Given the description of an element on the screen output the (x, y) to click on. 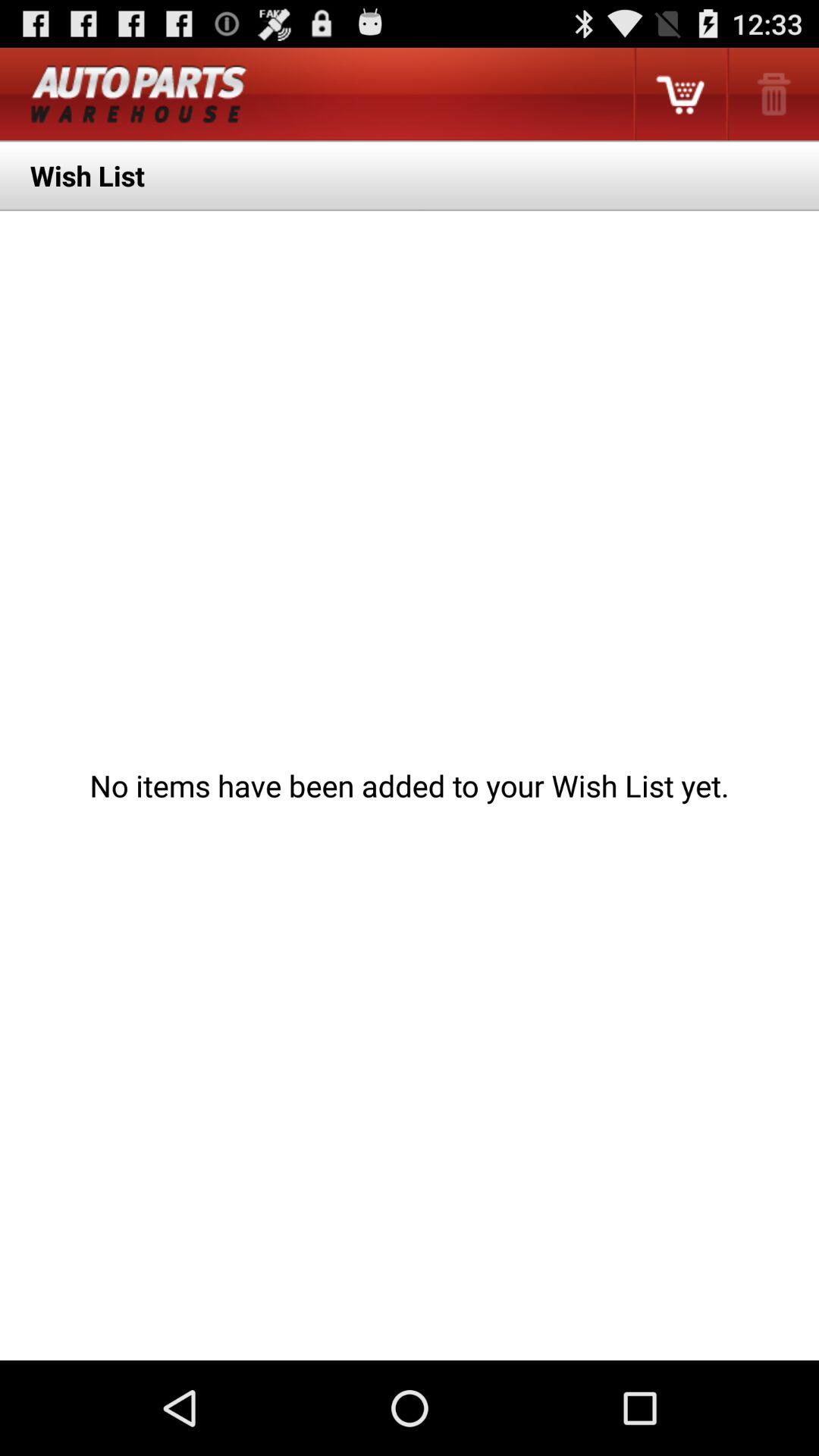
press app above wish list item (138, 93)
